Given the description of an element on the screen output the (x, y) to click on. 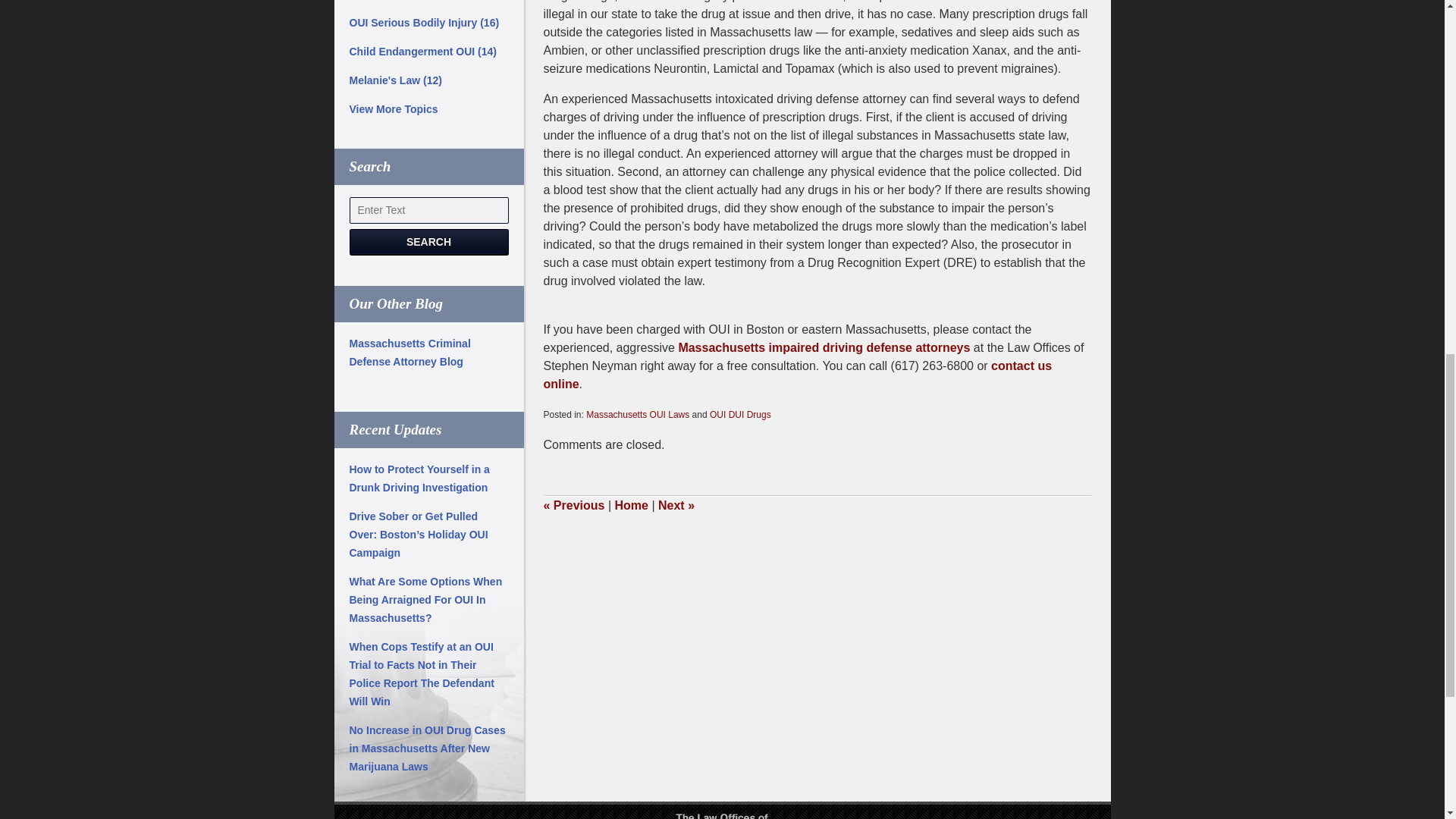
View all posts in OUI DUI Drugs (740, 414)
View all posts in Massachusetts OUI Laws (637, 414)
Massachusetts impaired driving defense attorneys (823, 347)
contact us online (797, 374)
Home (630, 504)
Massachusetts OUI Laws (637, 414)
OUI DUI Drugs (740, 414)
